Given the description of an element on the screen output the (x, y) to click on. 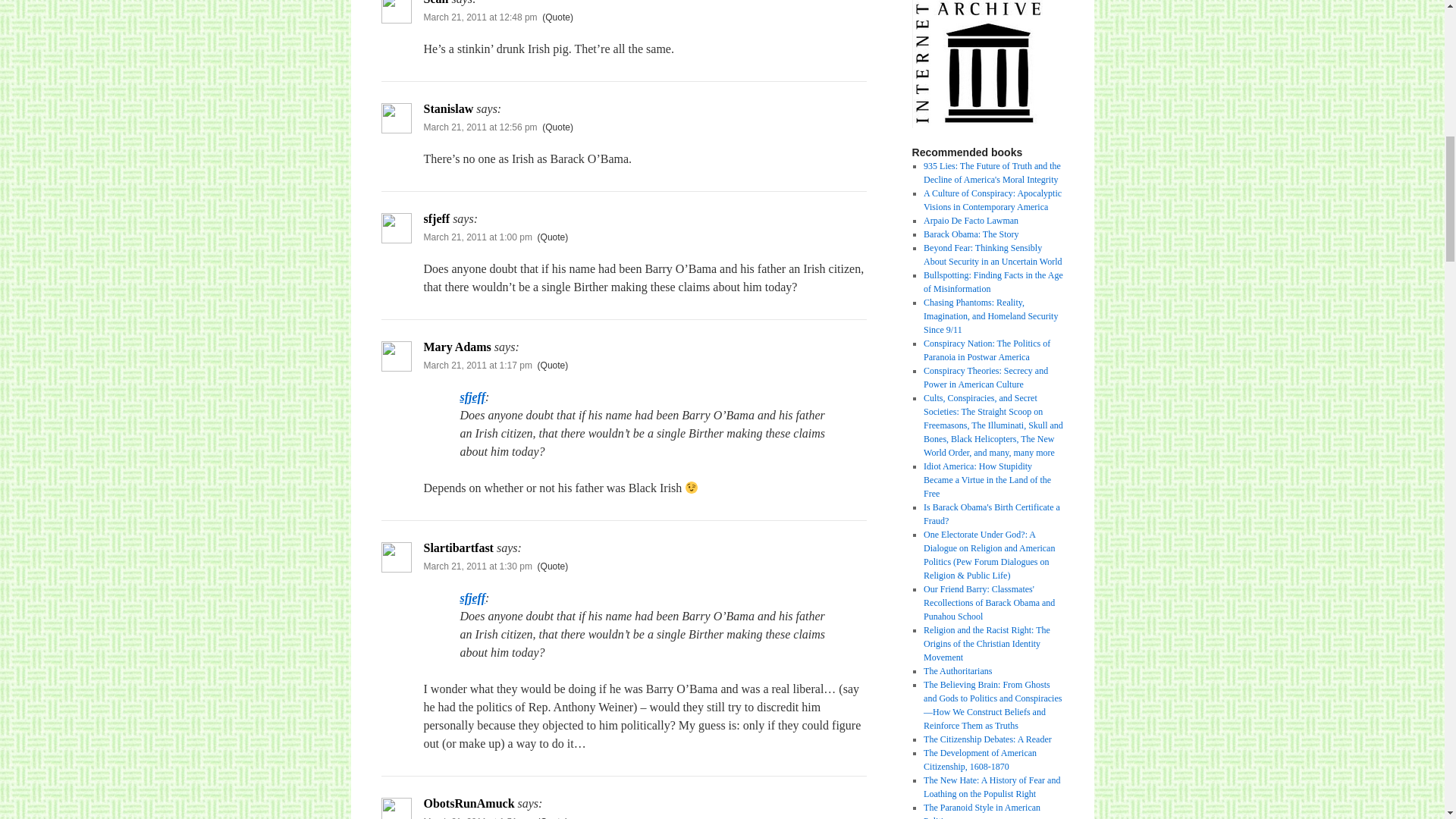
Click here or select text to quote comment (553, 365)
Click here or select text to quote comment (553, 566)
sfjeff (472, 396)
Click here or select text to quote comment (553, 817)
Click here or select text to quote comment (557, 17)
March 21, 2011 at 1:51 pm (477, 817)
March 21, 2011 at 1:30 pm (477, 566)
March 21, 2011 at 1:17 pm (477, 365)
March 21, 2011 at 12:56 pm (480, 127)
sfjeff (472, 597)
Click here or select text to quote comment (553, 236)
March 21, 2011 at 1:00 pm (477, 236)
March 21, 2011 at 12:48 pm (480, 17)
Click here or select text to quote comment (557, 127)
